Given the description of an element on the screen output the (x, y) to click on. 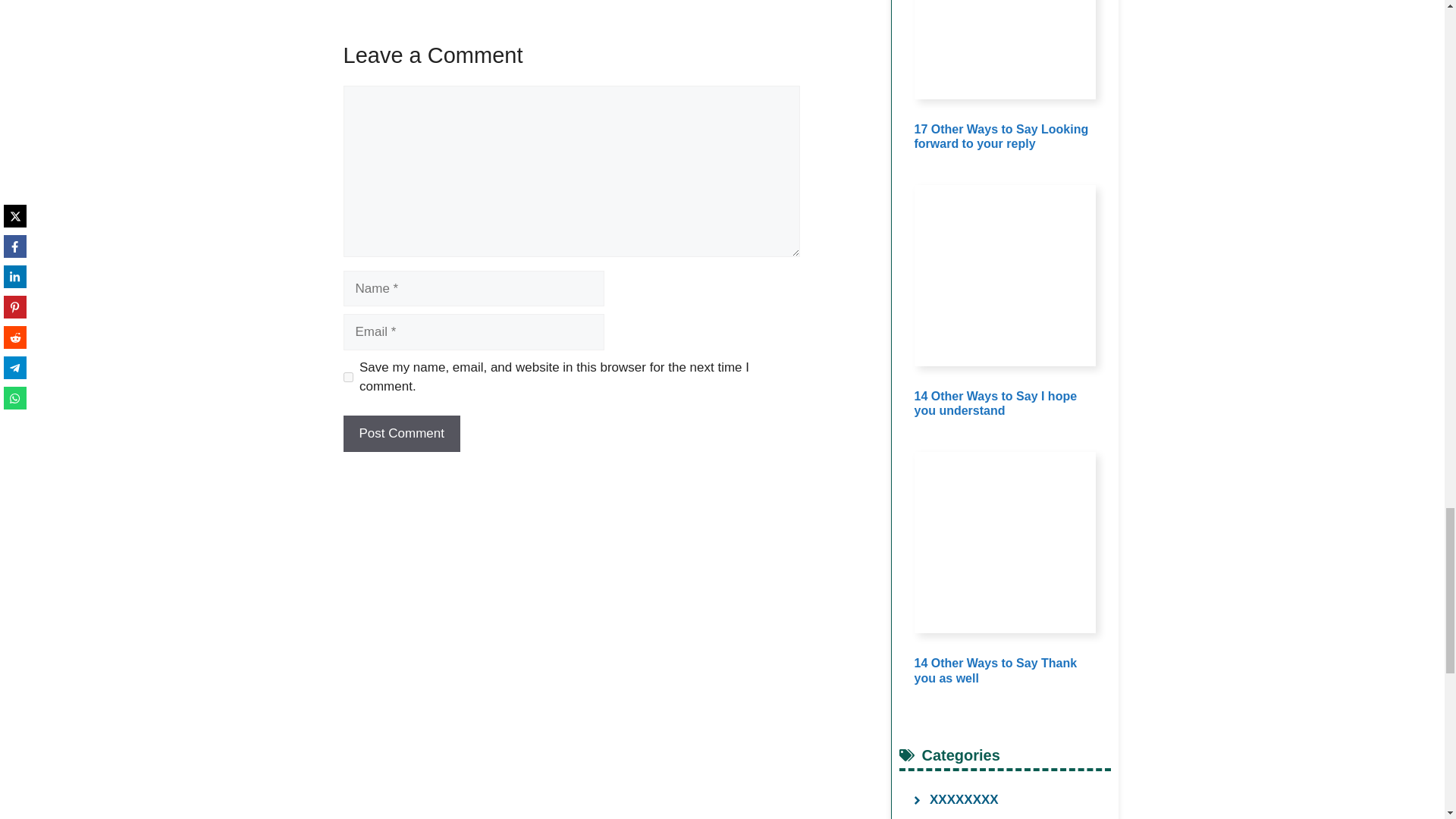
yes (347, 377)
Post Comment (401, 433)
XXXXXXXX (964, 799)
Post Comment (401, 433)
17 Other Ways to Say Looking forward to your reply (1001, 135)
14 Other Ways to Say I hope you understand (995, 402)
14 Other Ways to Say Thank you as well (995, 669)
